Given the description of an element on the screen output the (x, y) to click on. 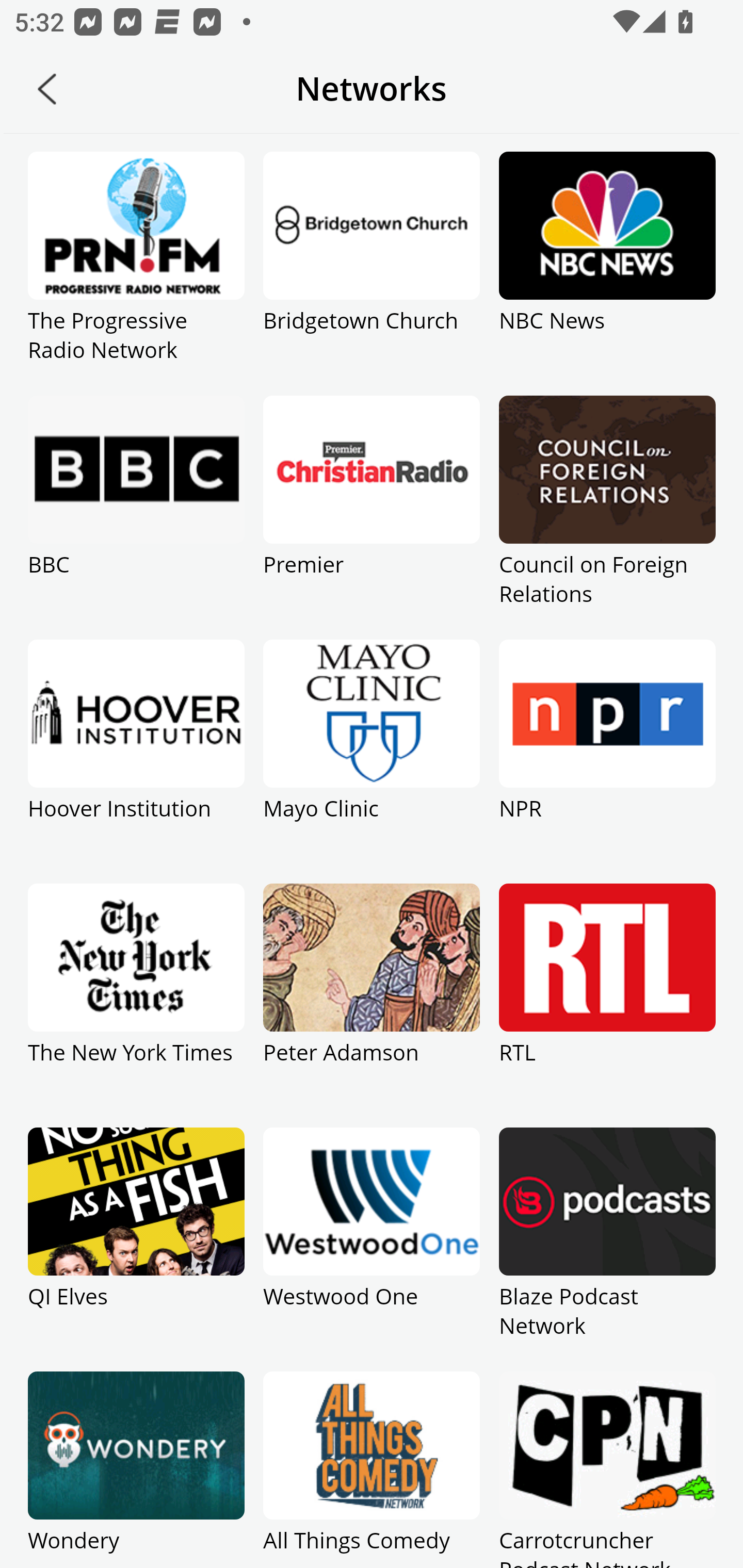
Back (46, 88)
The Progressive Radio Network (135, 273)
Bridgetown Church (371, 273)
NBC News (606, 273)
BBC (135, 517)
Premier (371, 517)
Council on Foreign Relations (606, 517)
Hoover Institution (135, 760)
Mayo Clinic (371, 760)
NPR (606, 760)
The New York Times (135, 1004)
Peter Adamson (371, 1004)
RTL (606, 1004)
QI Elves (135, 1249)
Westwood One (371, 1249)
Blaze Podcast Network (606, 1249)
Wondery (135, 1470)
All Things Comedy (371, 1470)
Carrotcruncher Podcast Network (606, 1470)
